Given the description of an element on the screen output the (x, y) to click on. 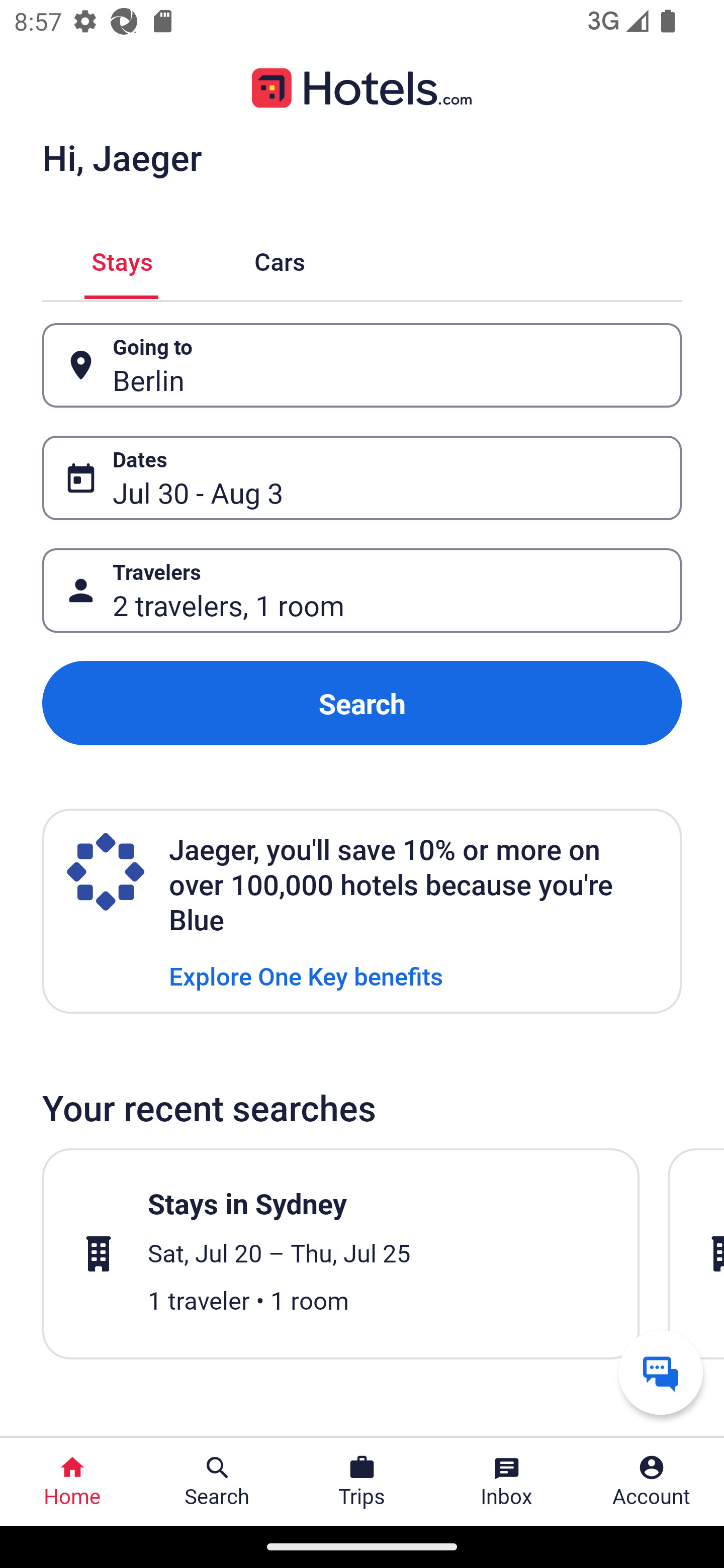
Hi, Jaeger (121, 156)
Cars (279, 259)
Going to Button Berlin (361, 365)
Dates Button Jul 30 - Aug 3 (361, 477)
Travelers Button 2 travelers, 1 room (361, 590)
Search (361, 702)
Get help from a virtual agent (660, 1371)
Search Search Button (216, 1481)
Trips Trips Button (361, 1481)
Inbox Inbox Button (506, 1481)
Account Profile. Button (651, 1481)
